Given the description of an element on the screen output the (x, y) to click on. 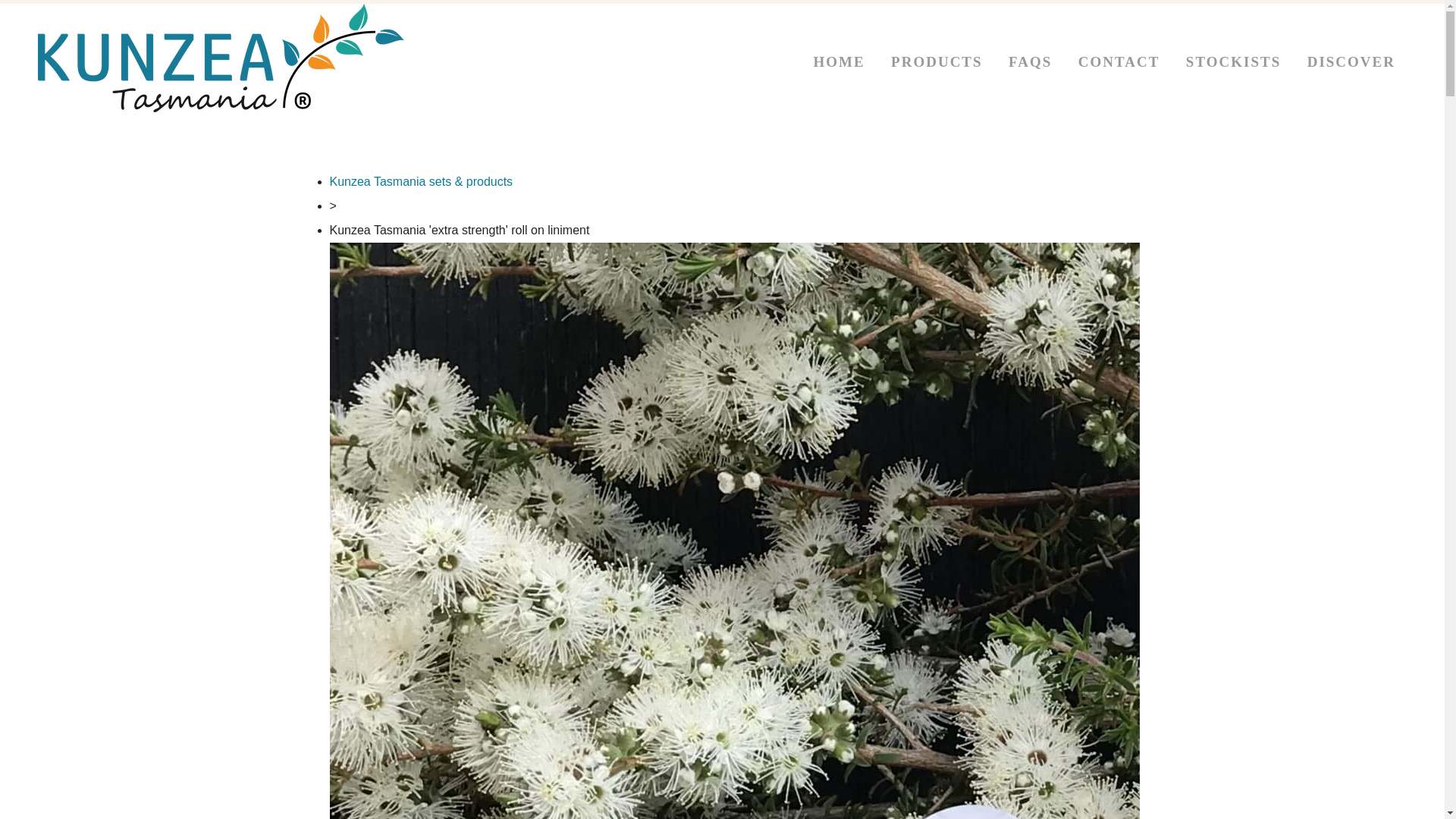
CONTACT Element type: text (1119, 61)
HOME Element type: text (838, 61)
DISCOVER Element type: text (1351, 61)
STOCKISTS Element type: text (1233, 61)
PRODUCTS Element type: text (936, 61)
Kunzea Tasmania sets & products Element type: text (420, 181)
FAQS Element type: text (1029, 61)
